Given the description of an element on the screen output the (x, y) to click on. 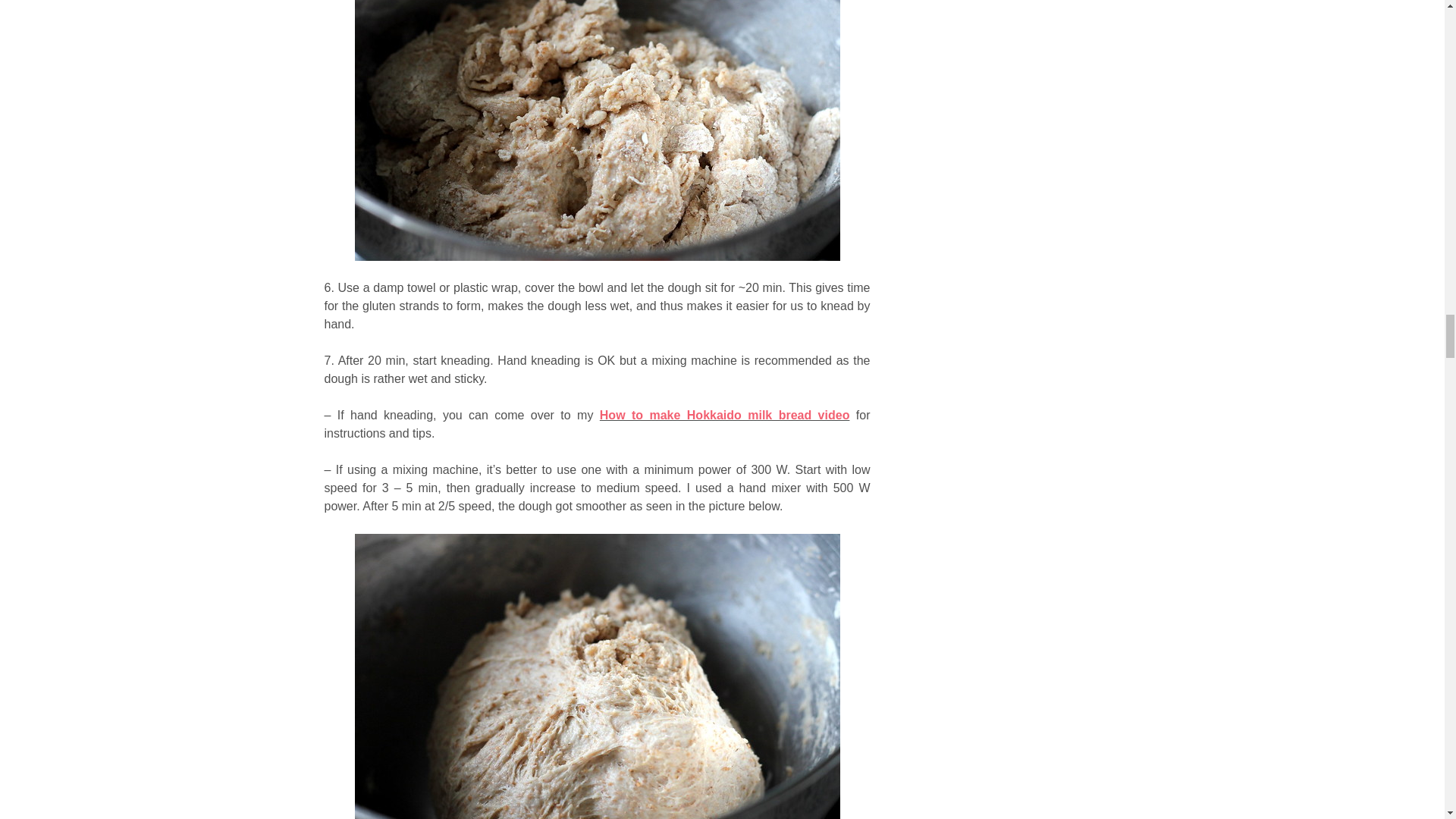
How to make Hokkaido milk bread video (724, 414)
